Given the description of an element on the screen output the (x, y) to click on. 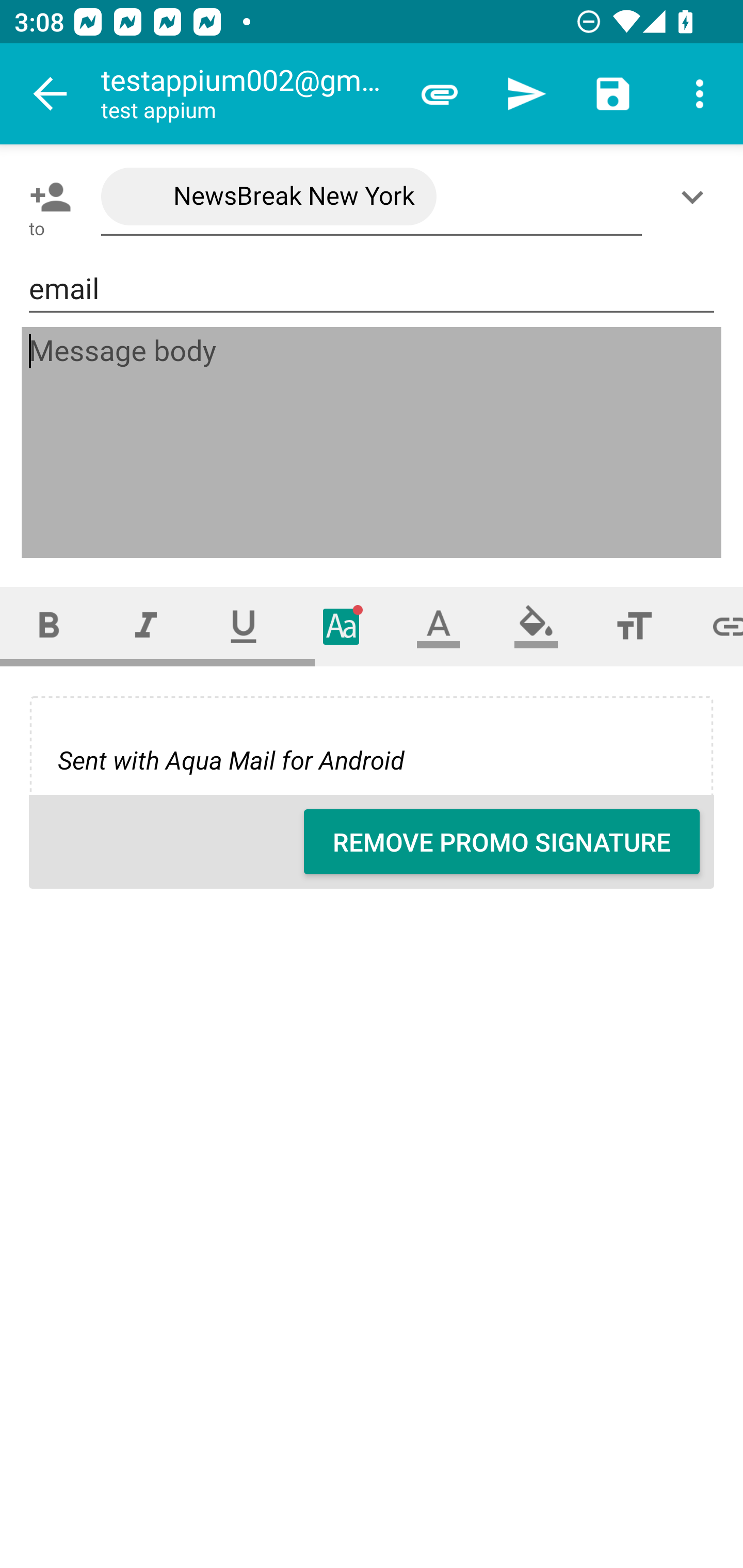
Navigate up (50, 93)
testappium002@gmail.com test appium (248, 93)
Attach (439, 93)
Send (525, 93)
Save (612, 93)
More options (699, 93)
Pick contact: To (46, 196)
Show/Add CC/BCC (696, 196)
email (371, 288)
Message body (372, 442)
Bold (48, 626)
Italic (145, 626)
Underline (243, 626)
Typeface (font) (341, 626)
Text color (438, 626)
Fill color (536, 626)
Font size (633, 626)
REMOVE PROMO SIGNATURE (501, 841)
